Given the description of an element on the screen output the (x, y) to click on. 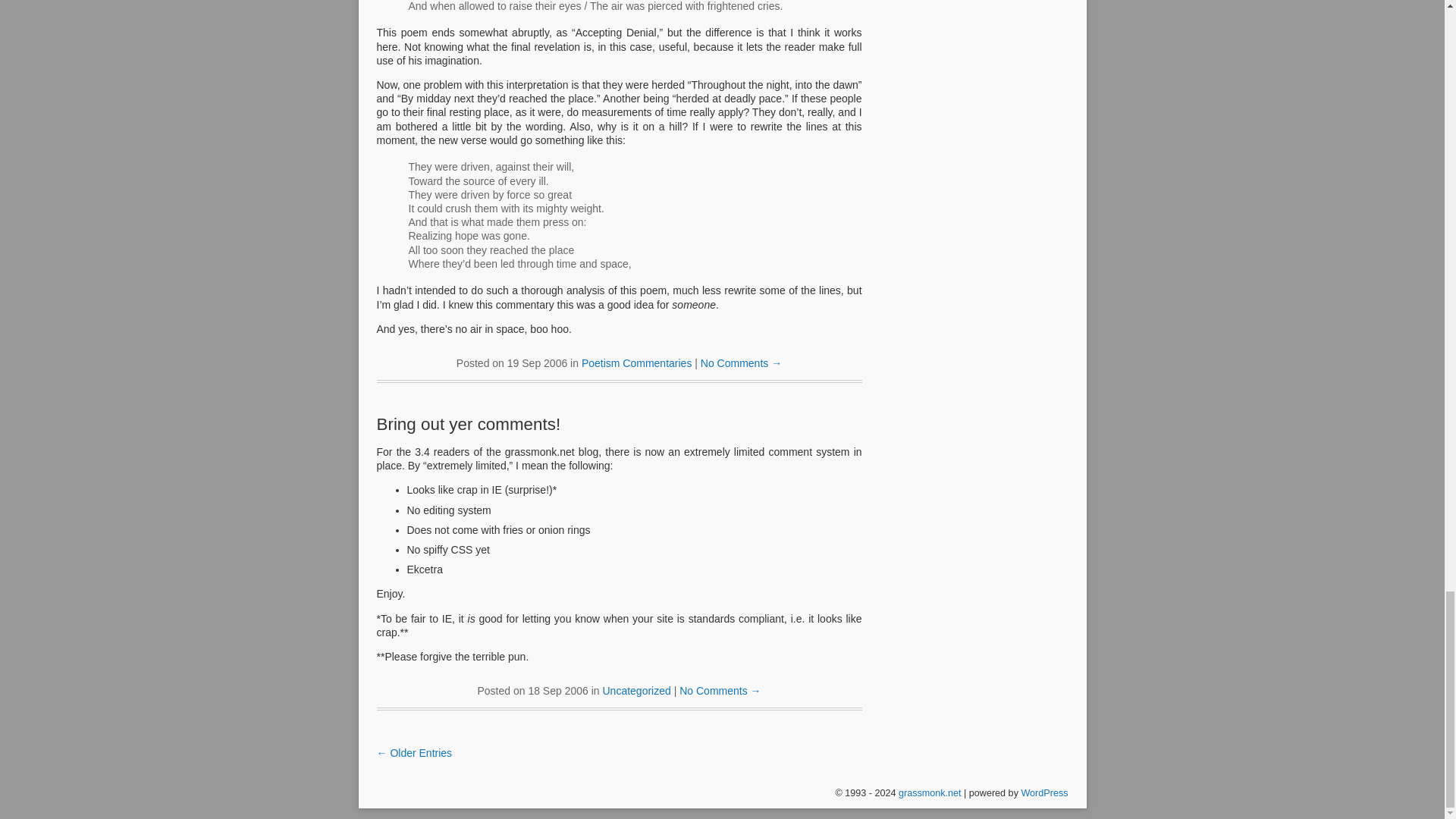
2006-09-19T01:44:13-06:00 (536, 363)
Permanent Link to Bring out yer comments! (467, 424)
2006-09-18T19:27:13-06:00 (557, 690)
